Given the description of an element on the screen output the (x, y) to click on. 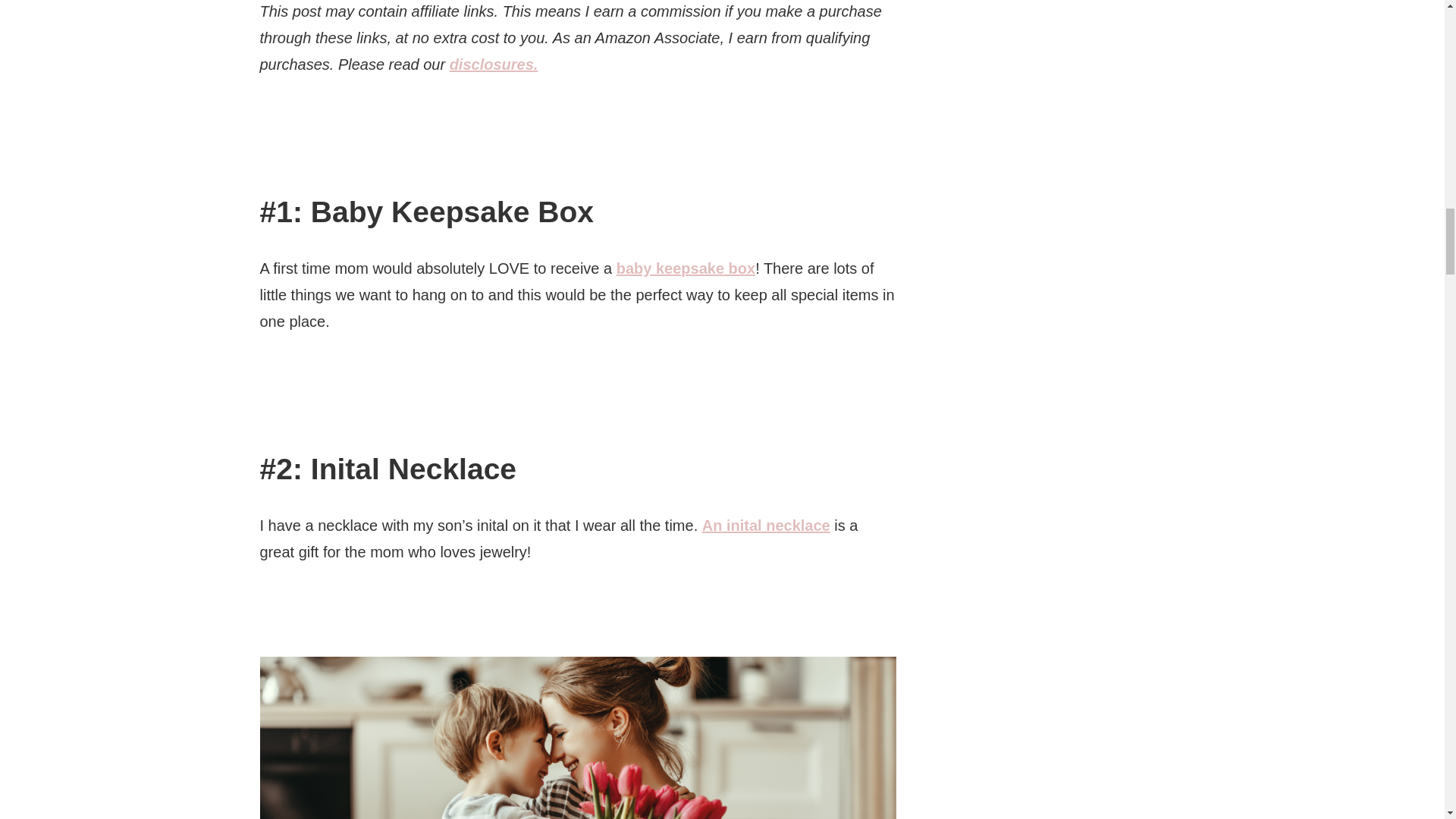
disclosures. (493, 64)
An inital necklace (765, 524)
baby keepsake box (685, 268)
